Given the description of an element on the screen output the (x, y) to click on. 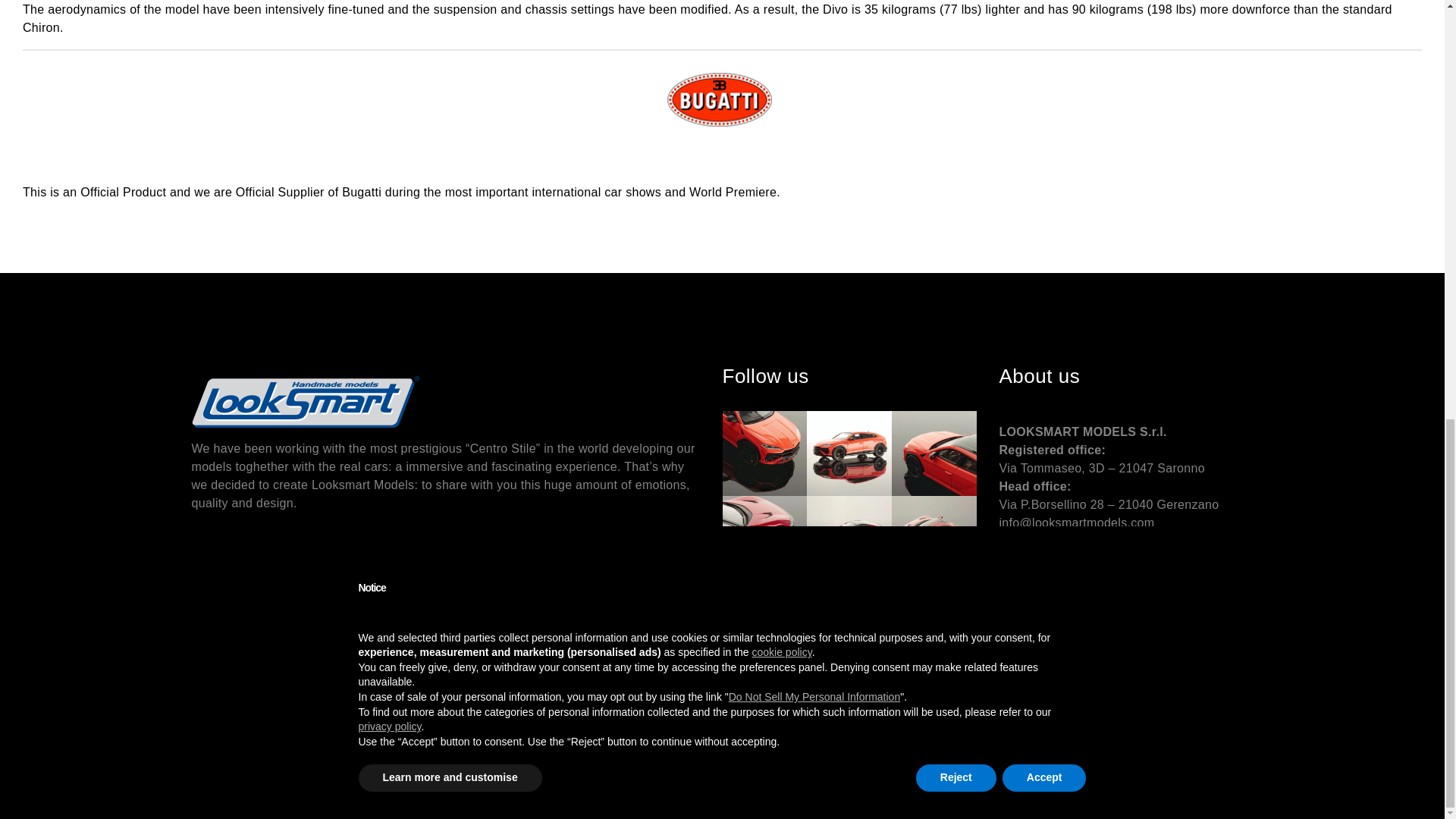
Privacy Policy  (1033, 591)
Cookie Policy  (1104, 591)
